Given the description of an element on the screen output the (x, y) to click on. 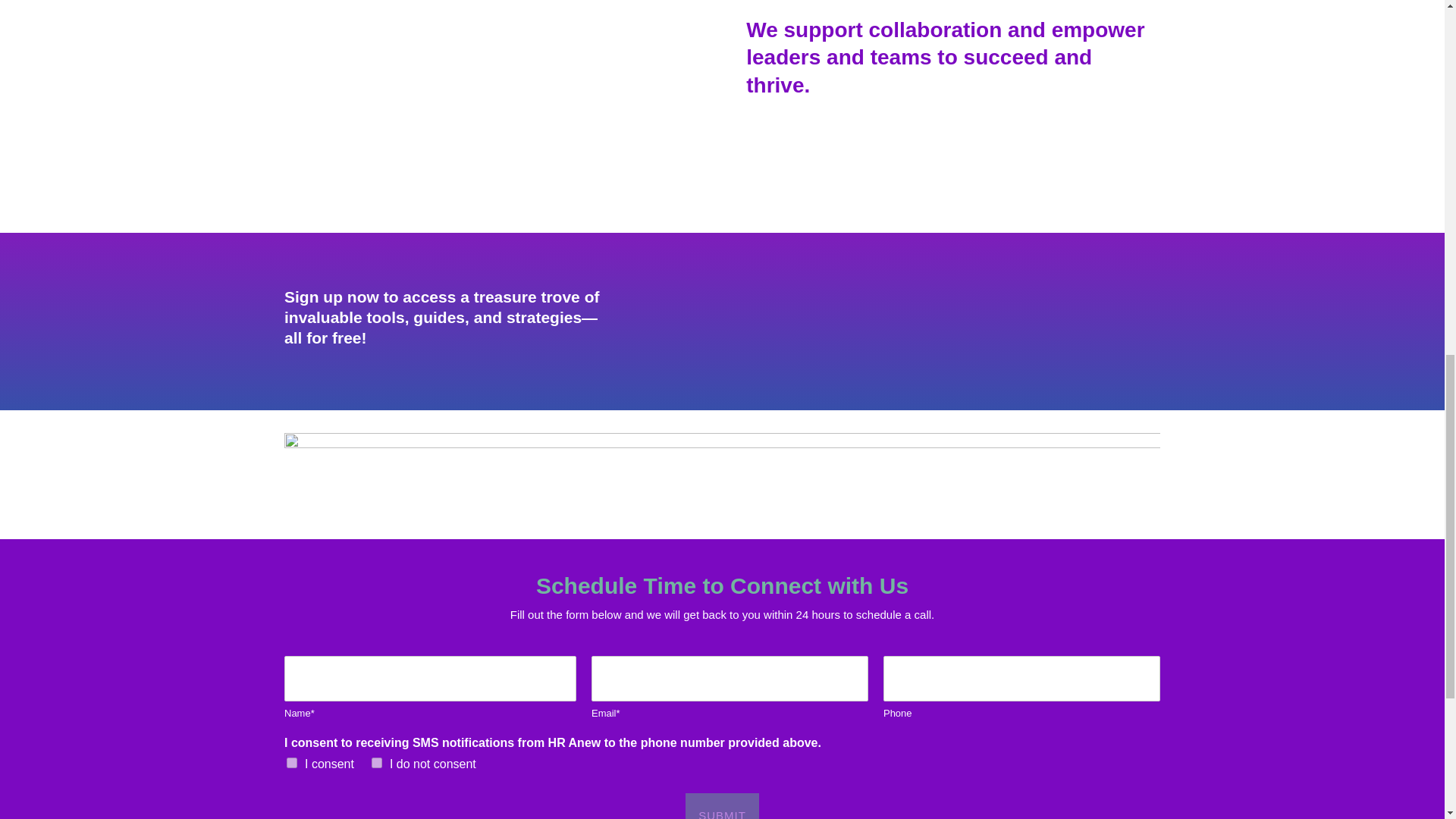
SUBMIT (721, 806)
wpforms-submit (1091, 320)
HR Anew Logos (721, 474)
Psda (490, 97)
I do not consent (376, 762)
I consent (291, 762)
